Given the description of an element on the screen output the (x, y) to click on. 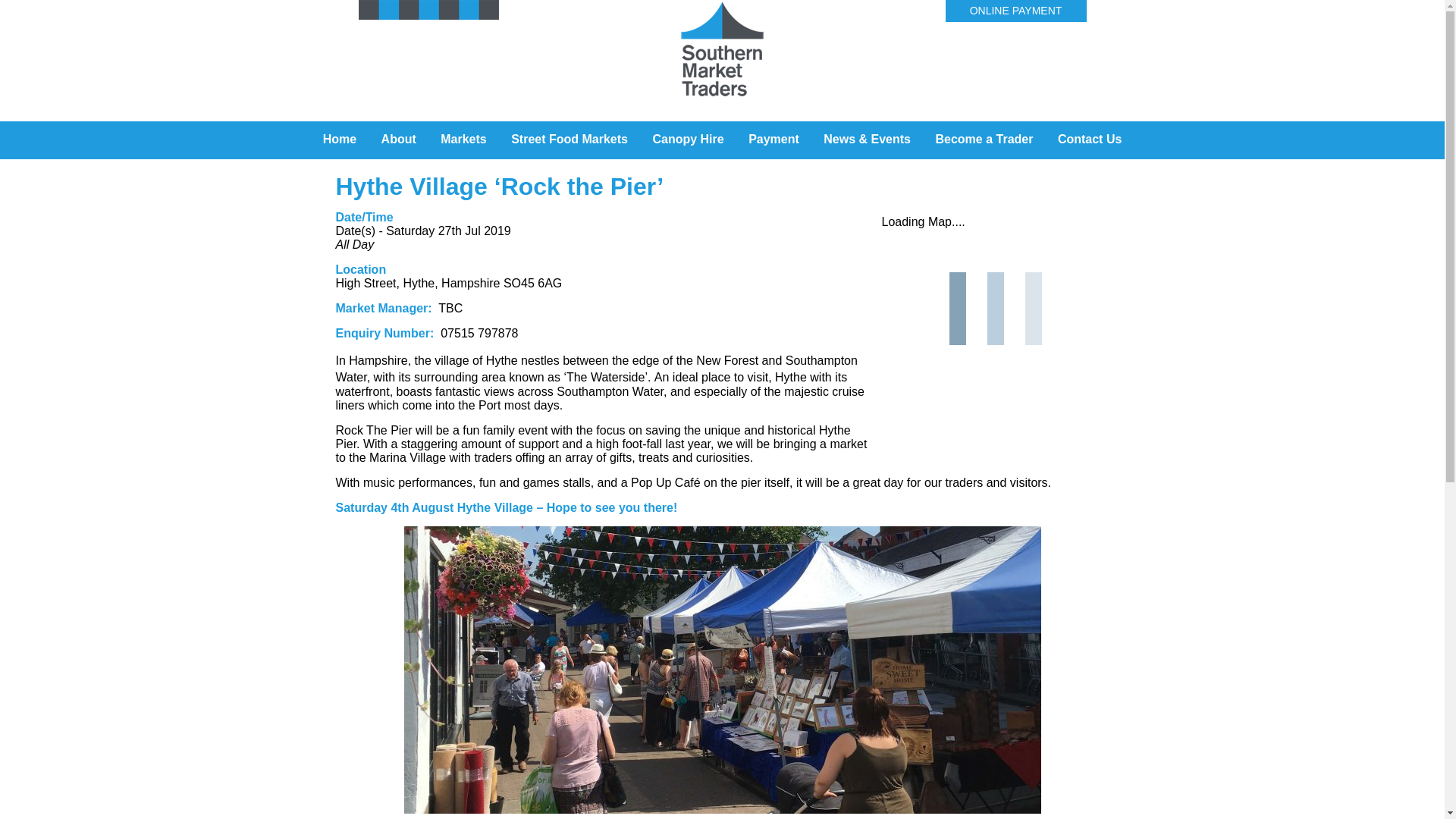
ONLINE PAYMENT (1015, 10)
Home (339, 137)
Street Food Markets (569, 137)
Gallery (721, 169)
Contact Us (1089, 137)
Payment (773, 137)
Canopy Hire (687, 137)
Markets (462, 137)
About (398, 137)
Become a Trader (983, 137)
